Given the description of an element on the screen output the (x, y) to click on. 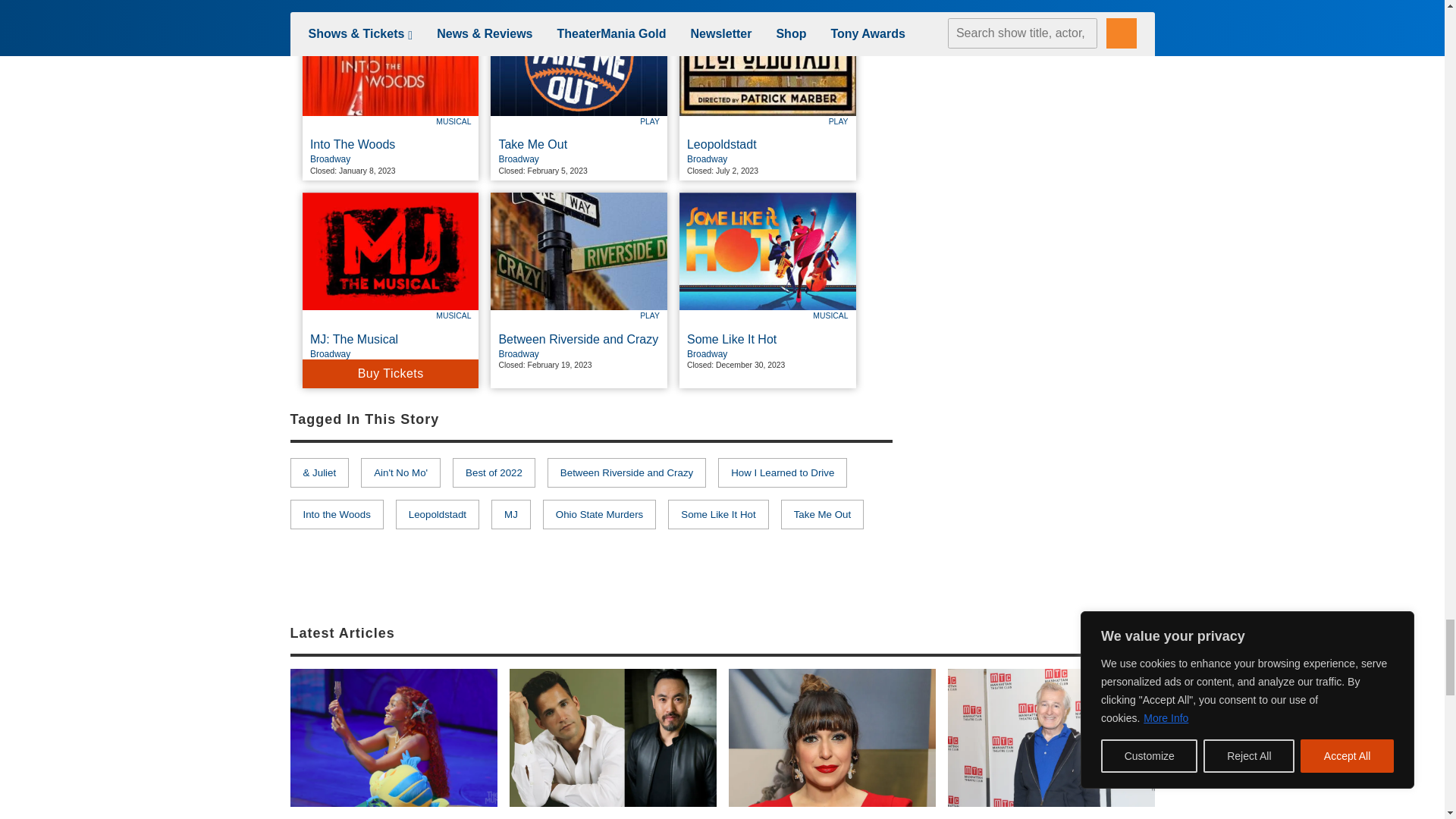
3rd party ad content (1040, 494)
